Given the description of an element on the screen output the (x, y) to click on. 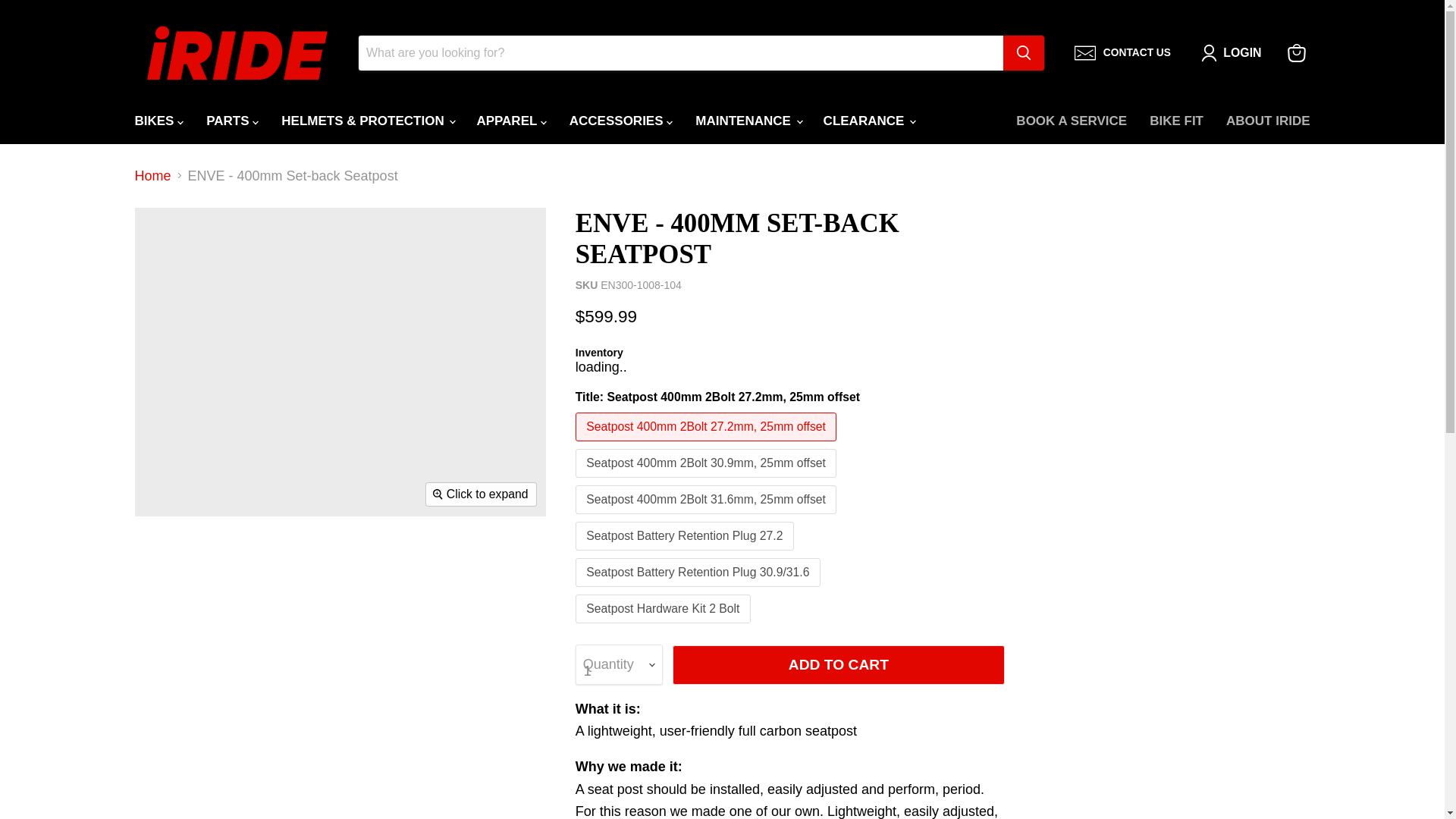
View cart (1296, 52)
CONTACT US (1122, 52)
LOGIN (1241, 53)
